Given the description of an element on the screen output the (x, y) to click on. 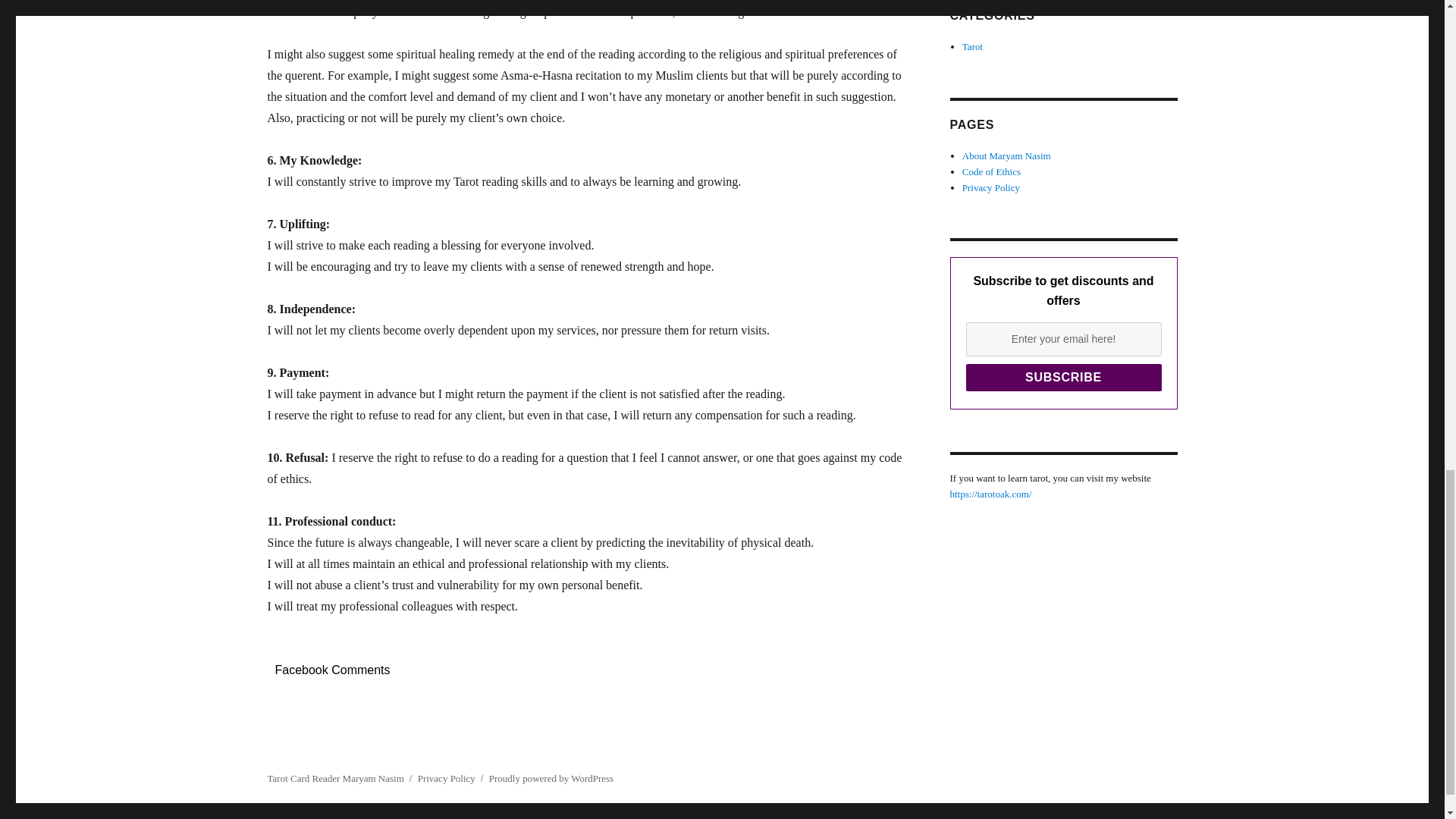
Proudly powered by WordPress (550, 778)
Code of Ethics (991, 171)
Privacy Policy (991, 187)
Subscribe (1063, 377)
About Maryam Nasim (1006, 155)
Tarot (972, 46)
Privacy Policy (446, 778)
Subscribe (1063, 377)
Tarot Card Reader Maryam Nasim (334, 778)
